Given the description of an element on the screen output the (x, y) to click on. 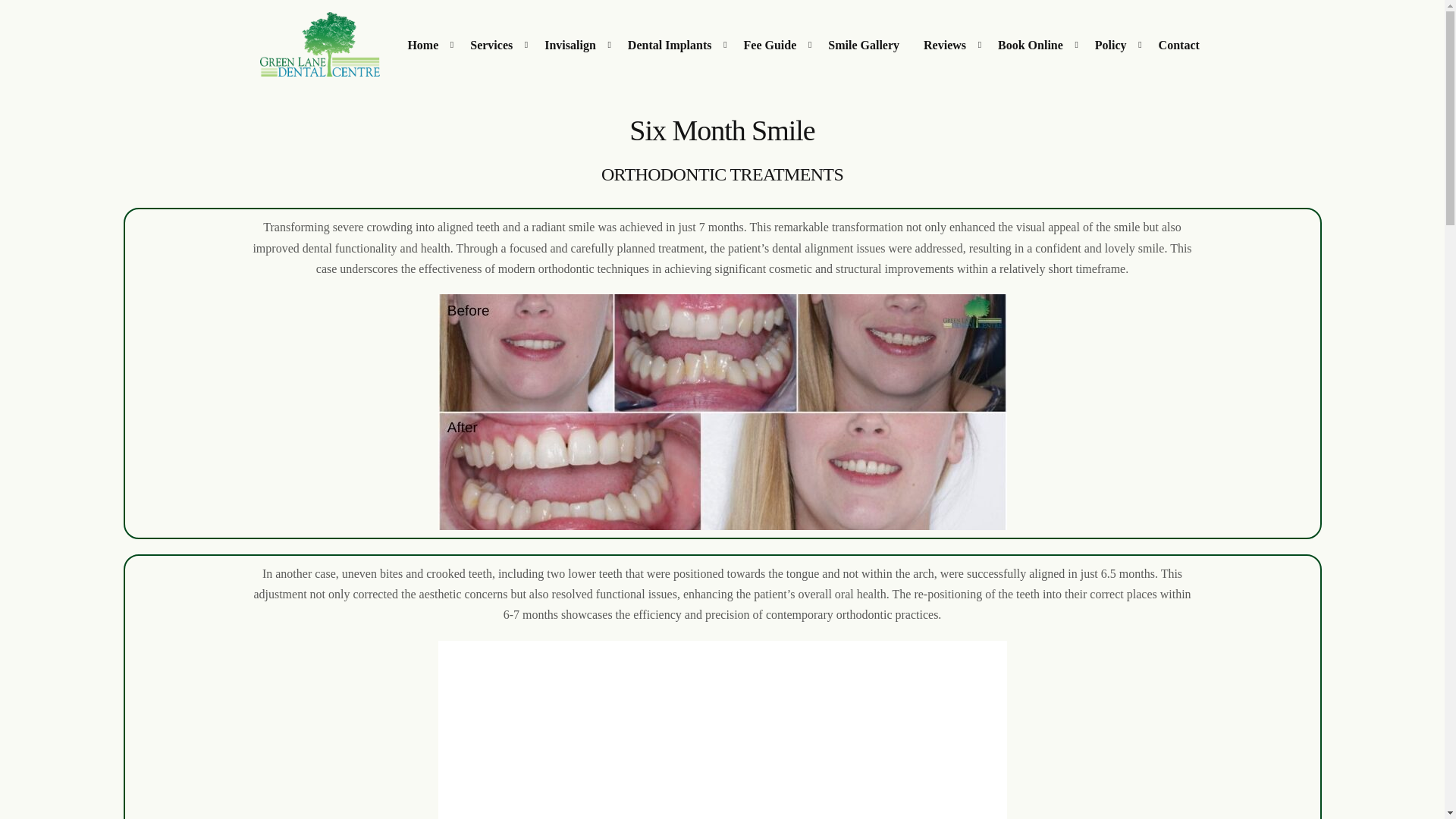
Smile Gallery (863, 44)
Fee Guide (774, 44)
Dental Implants (673, 44)
Invisalign (573, 44)
